Given the description of an element on the screen output the (x, y) to click on. 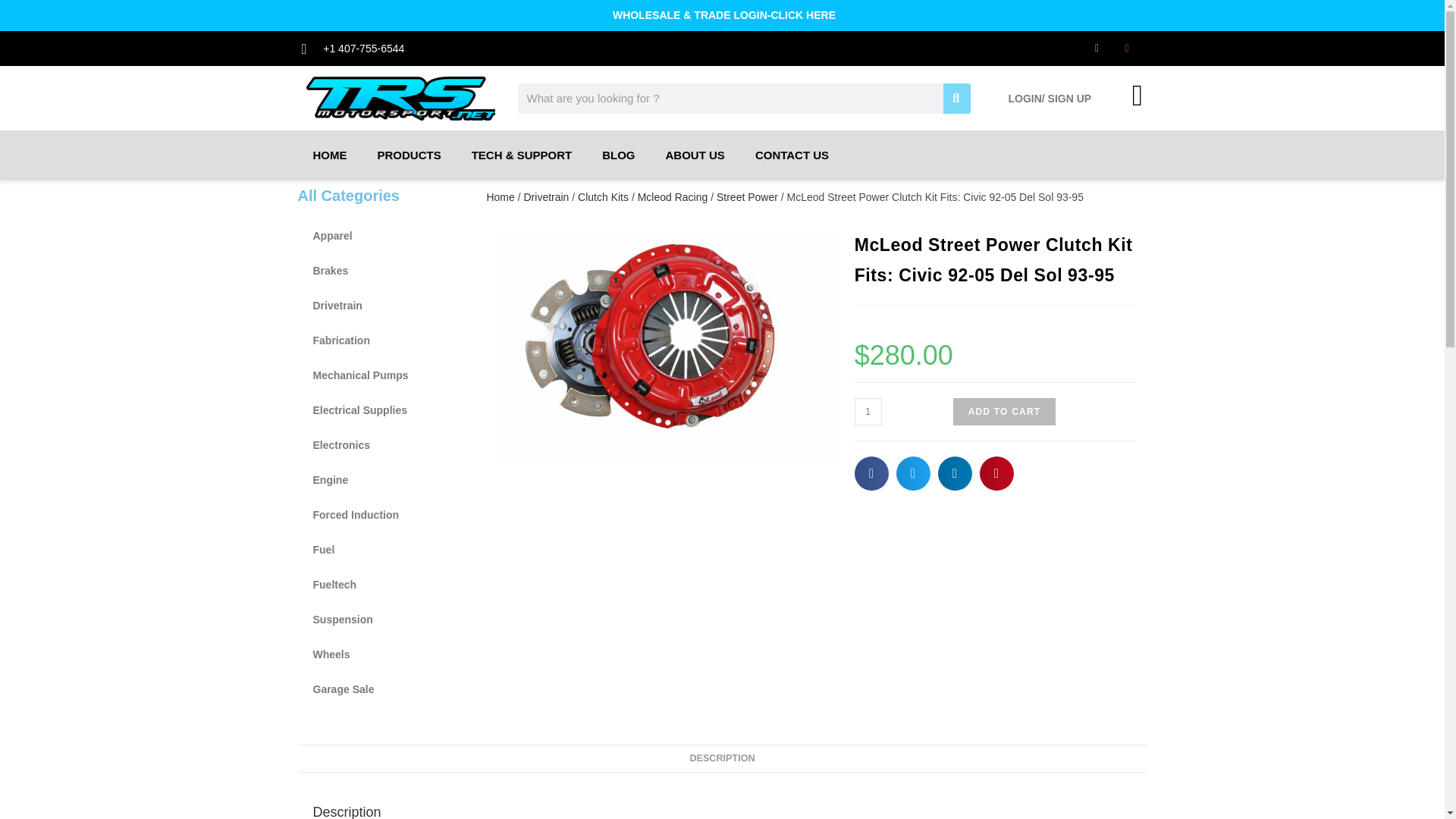
HOME (329, 155)
1 (868, 411)
PRODUCTS (409, 155)
